Given the description of an element on the screen output the (x, y) to click on. 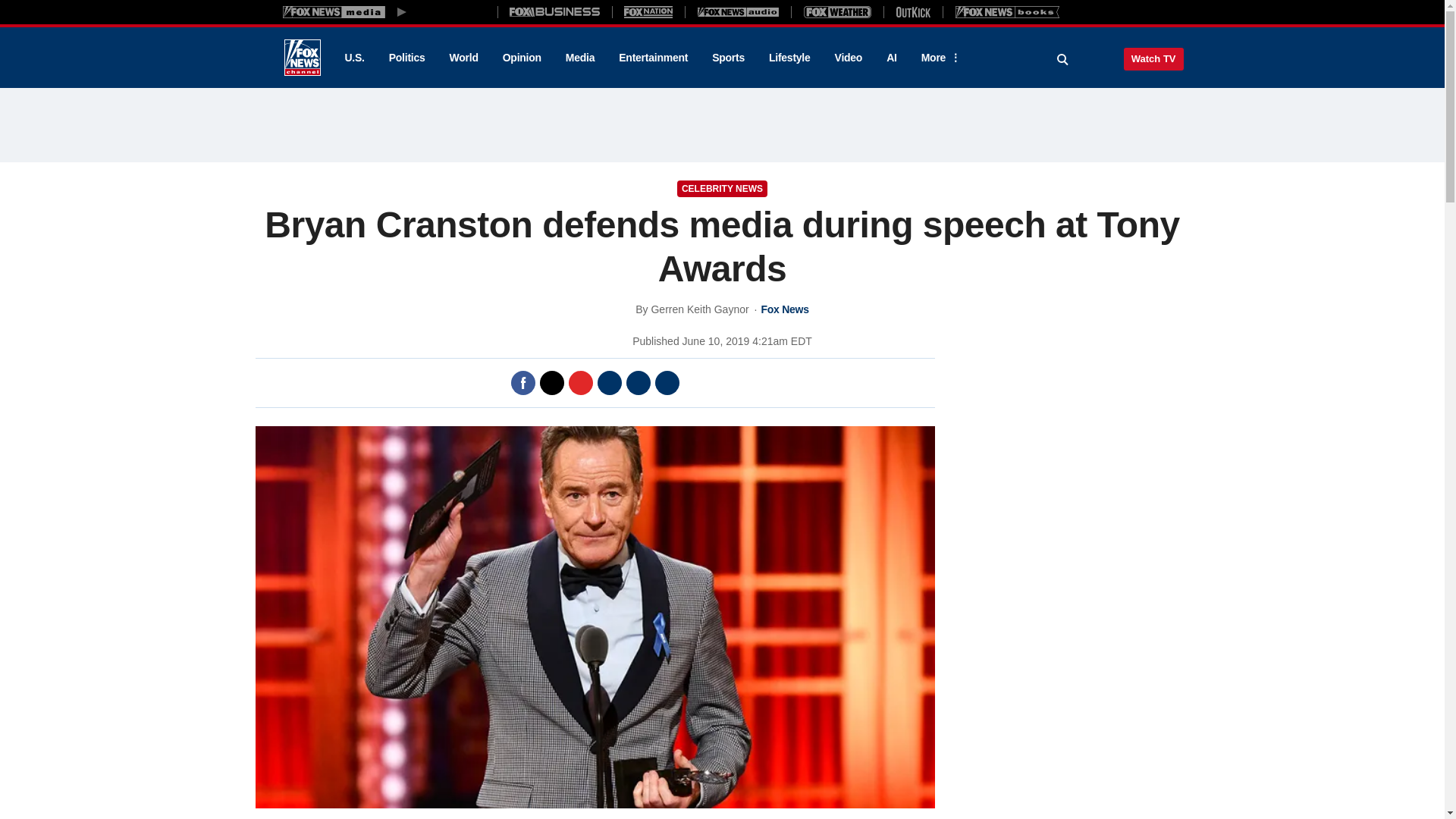
Fox News Media (453, 11)
Fox News Audio (737, 11)
World (464, 57)
Opinion (521, 57)
Media (580, 57)
AI (891, 57)
More (938, 57)
Outkick (912, 11)
Lifestyle (789, 57)
Sports (728, 57)
Fox Nation (648, 11)
Fox News (301, 57)
Books (1007, 11)
Politics (407, 57)
Fox Weather (836, 11)
